Given the description of an element on the screen output the (x, y) to click on. 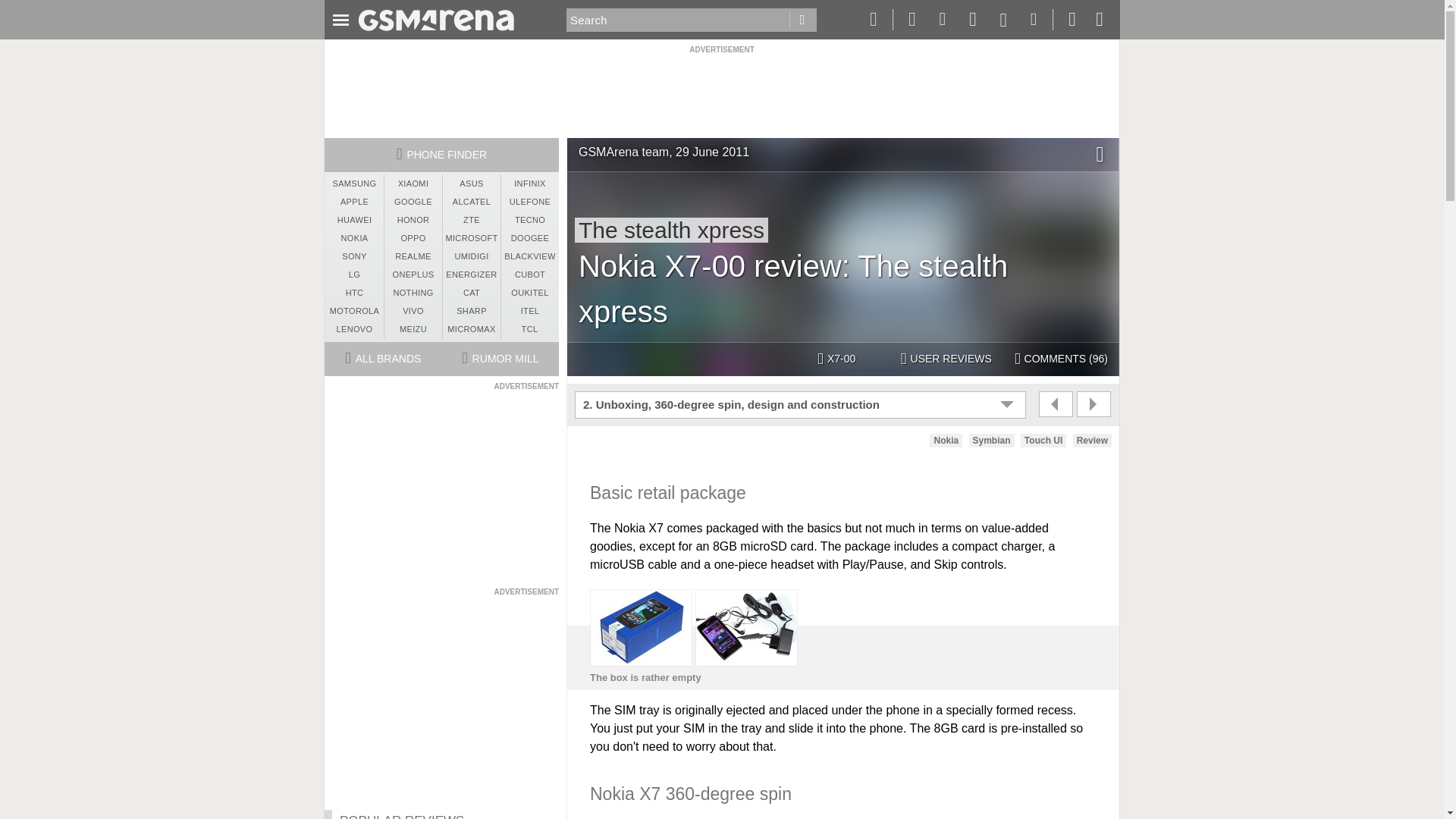
2. Unboxing, 360-degree spin, design and construction (802, 404)
Go (802, 19)
Previous page (1056, 403)
Go (802, 19)
X7-00 (836, 359)
Next page (1093, 403)
2. Unboxing, 360-degree spin, design and construction (802, 404)
USER REVIEWS (946, 359)
